Given the description of an element on the screen output the (x, y) to click on. 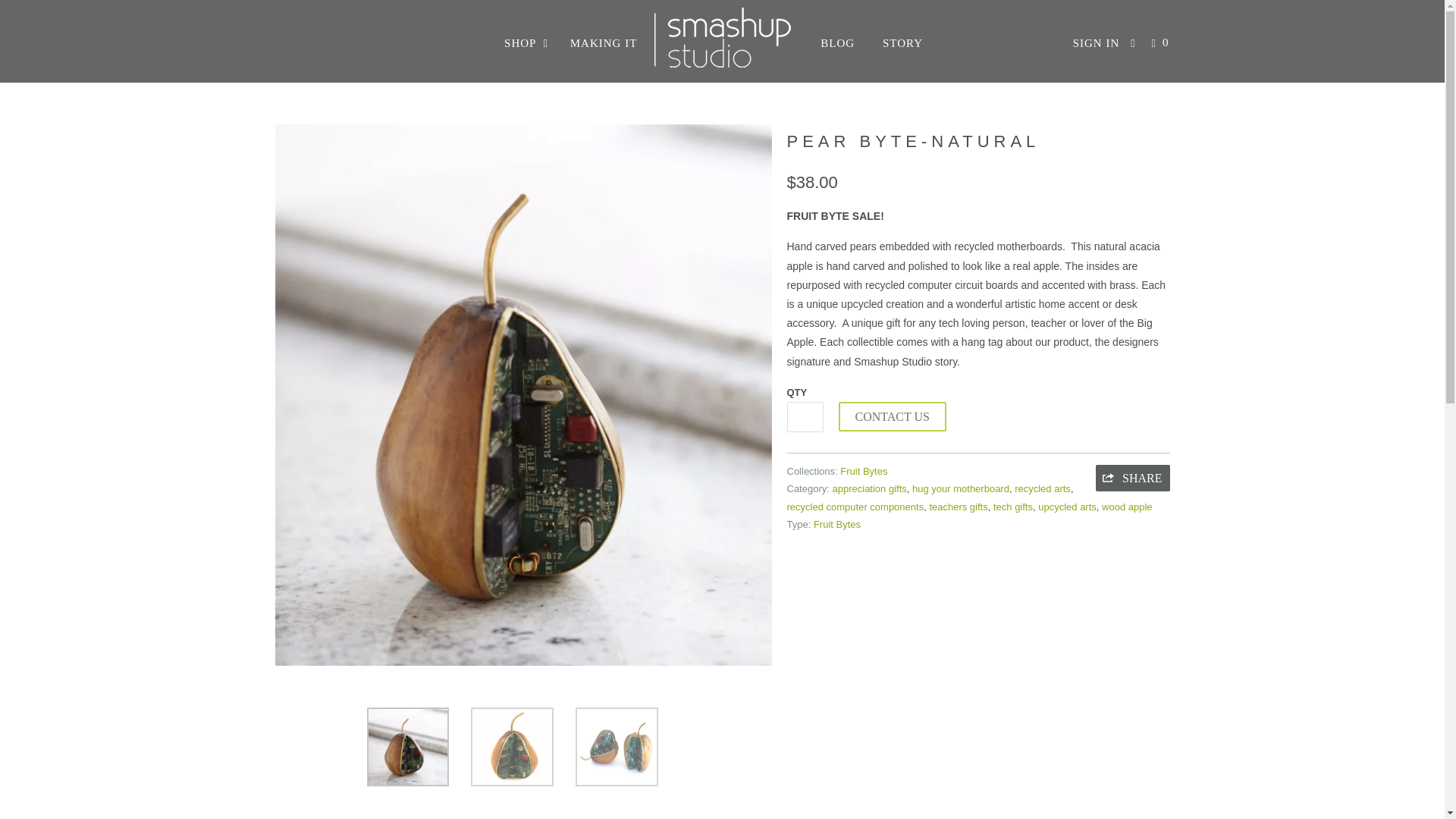
Products tagged upcycled arts (1067, 506)
Fruit Bytes (836, 523)
Products tagged teachers gifts (957, 506)
Fruit Bytes (863, 471)
0 (1161, 43)
Fruit Bytes (863, 471)
Products tagged tech gifts (1012, 506)
My Account  (1096, 43)
MAKING IT (604, 43)
Products tagged hug your motherboard (960, 488)
SmashUp Studio (721, 63)
SHOP   (526, 43)
BLOG (837, 43)
Products tagged recycled arts (1042, 488)
